Given the description of an element on the screen output the (x, y) to click on. 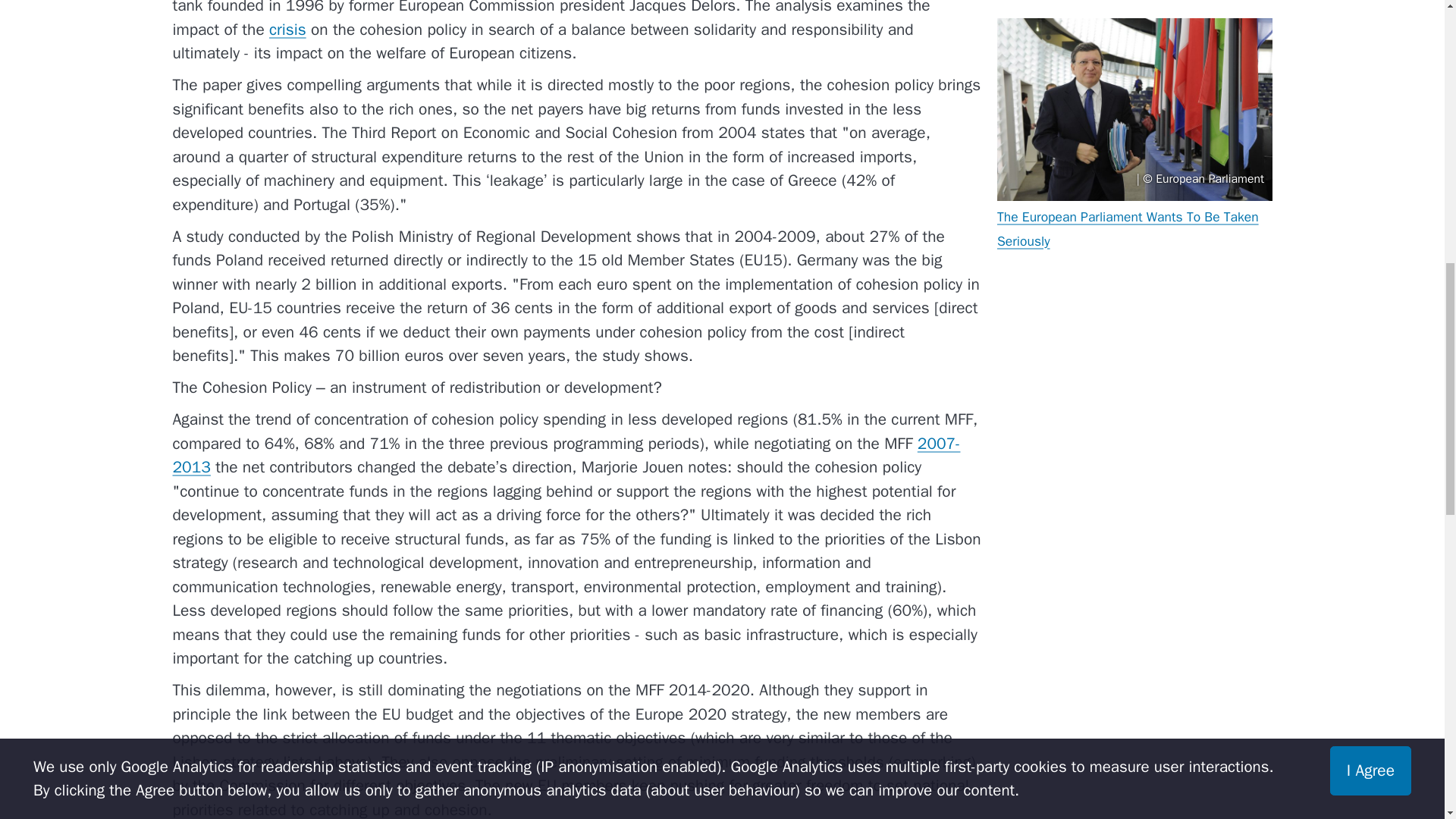
crisis (287, 29)
2007-2013 (566, 455)
